Given the description of an element on the screen output the (x, y) to click on. 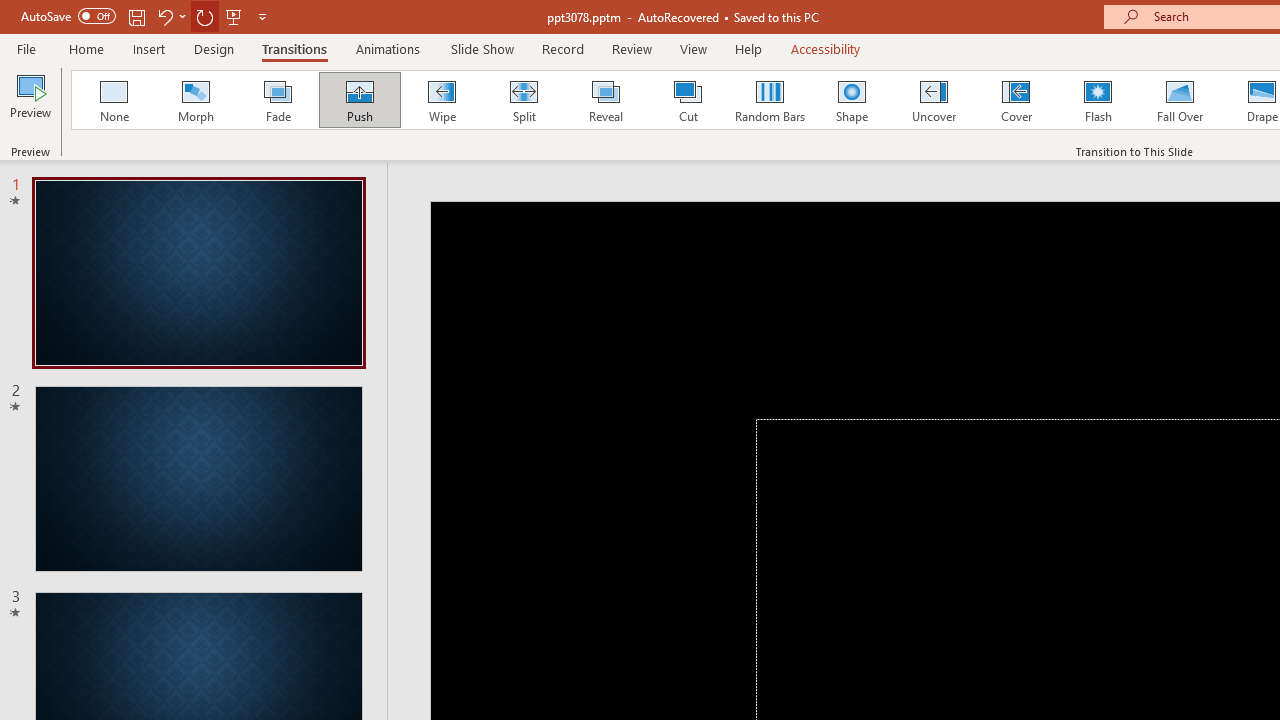
Flash (1098, 100)
Morph (195, 100)
Fall Over (1180, 100)
